Given the description of an element on the screen output the (x, y) to click on. 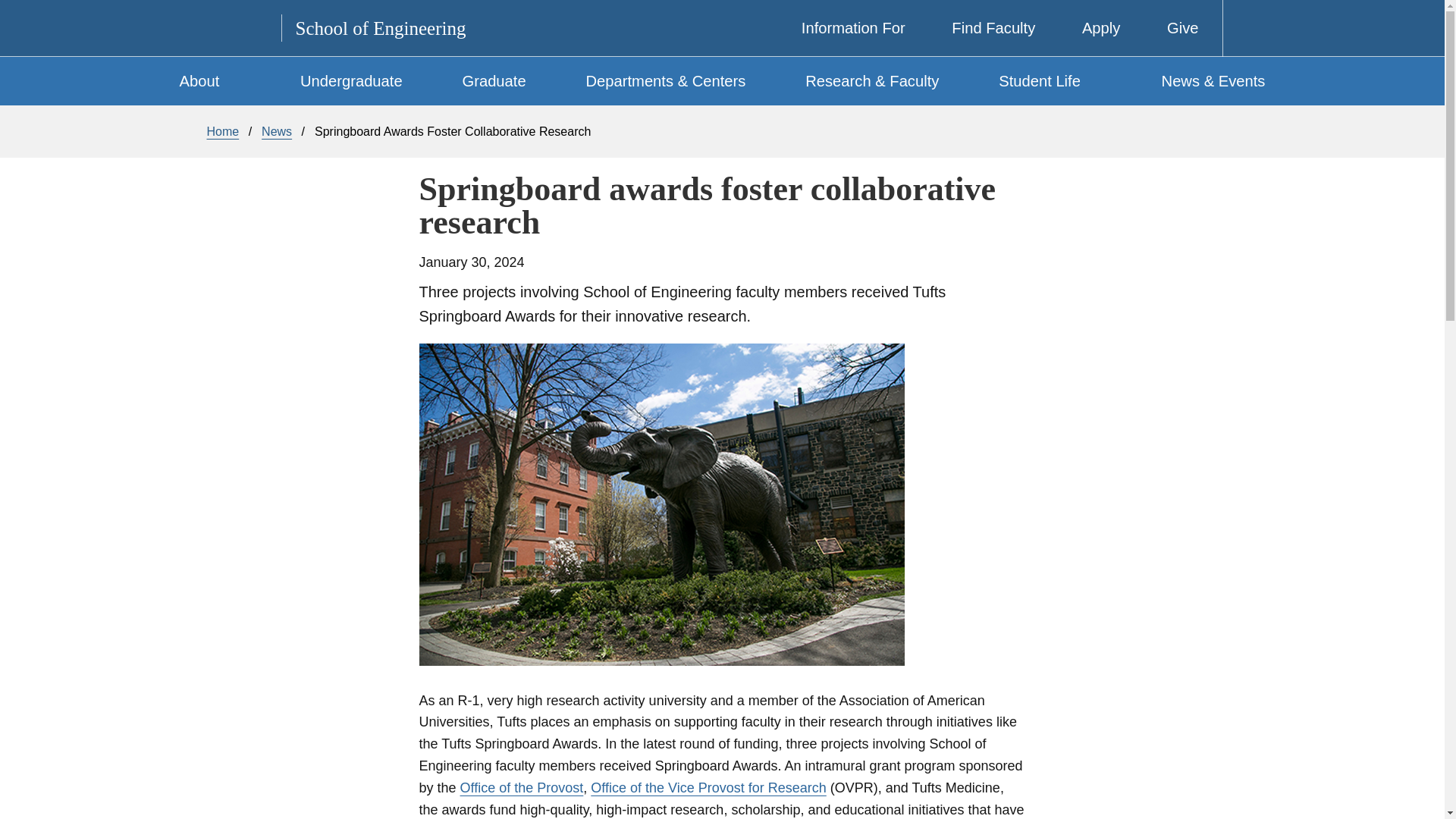
Undergraduate (351, 80)
About (227, 80)
Apply (1089, 28)
Find Faculty (982, 28)
School of Engineering (380, 28)
Graduate (494, 80)
Give (1170, 28)
Information For (842, 28)
Skip to main content (737, 4)
